Given the description of an element on the screen output the (x, y) to click on. 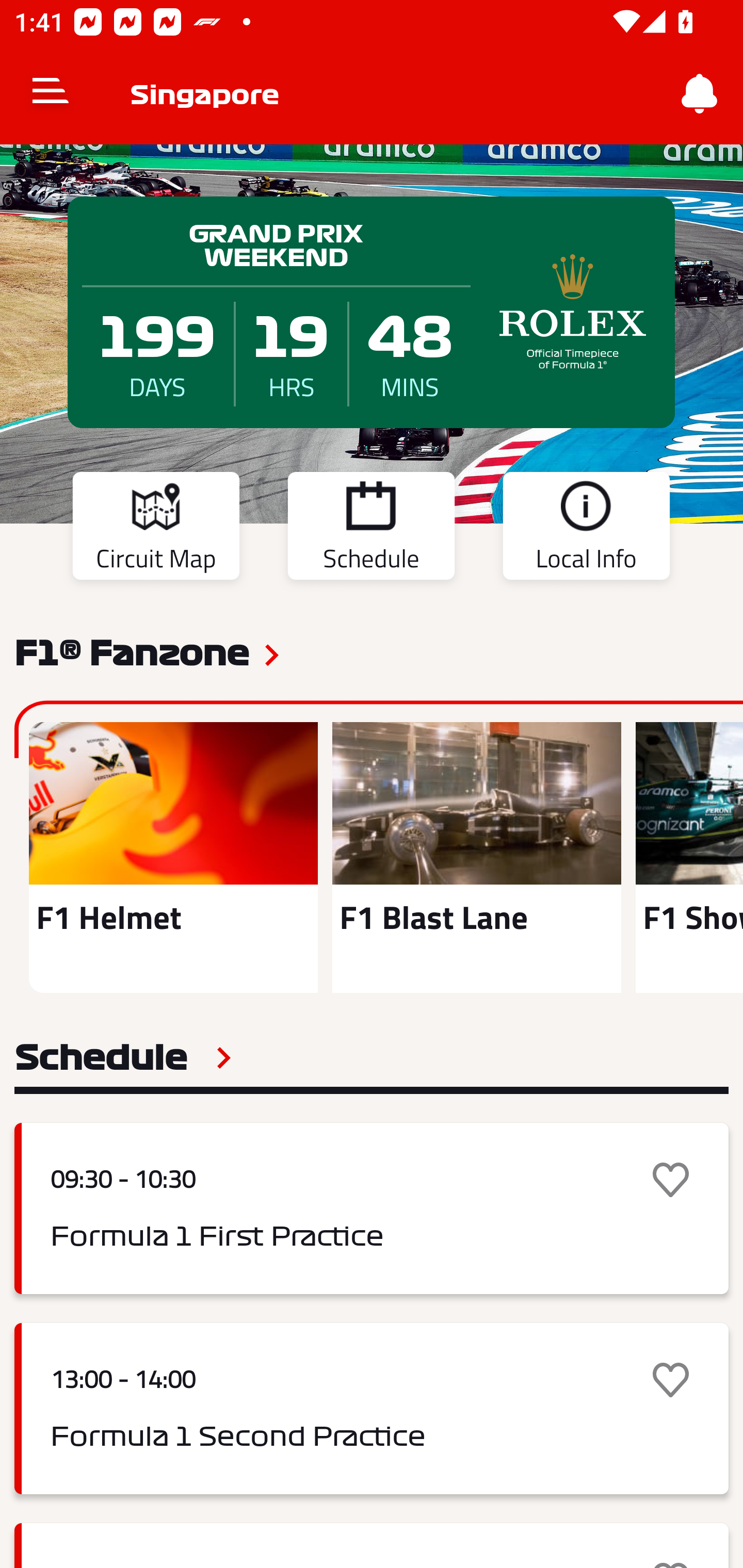
Navigate up (50, 93)
Notifications (699, 93)
Circuit Map (155, 528)
Schedule (370, 528)
Local Info (586, 528)
F1® Fanzone (131, 651)
F1 Helmet (173, 857)
F1 Blast Lane (476, 857)
Schedule (122, 1057)
09:30 - 10:30 Formula 1 First Practice (371, 1207)
13:00 - 14:00 Formula 1 Second Practice (371, 1408)
